Given the description of an element on the screen output the (x, y) to click on. 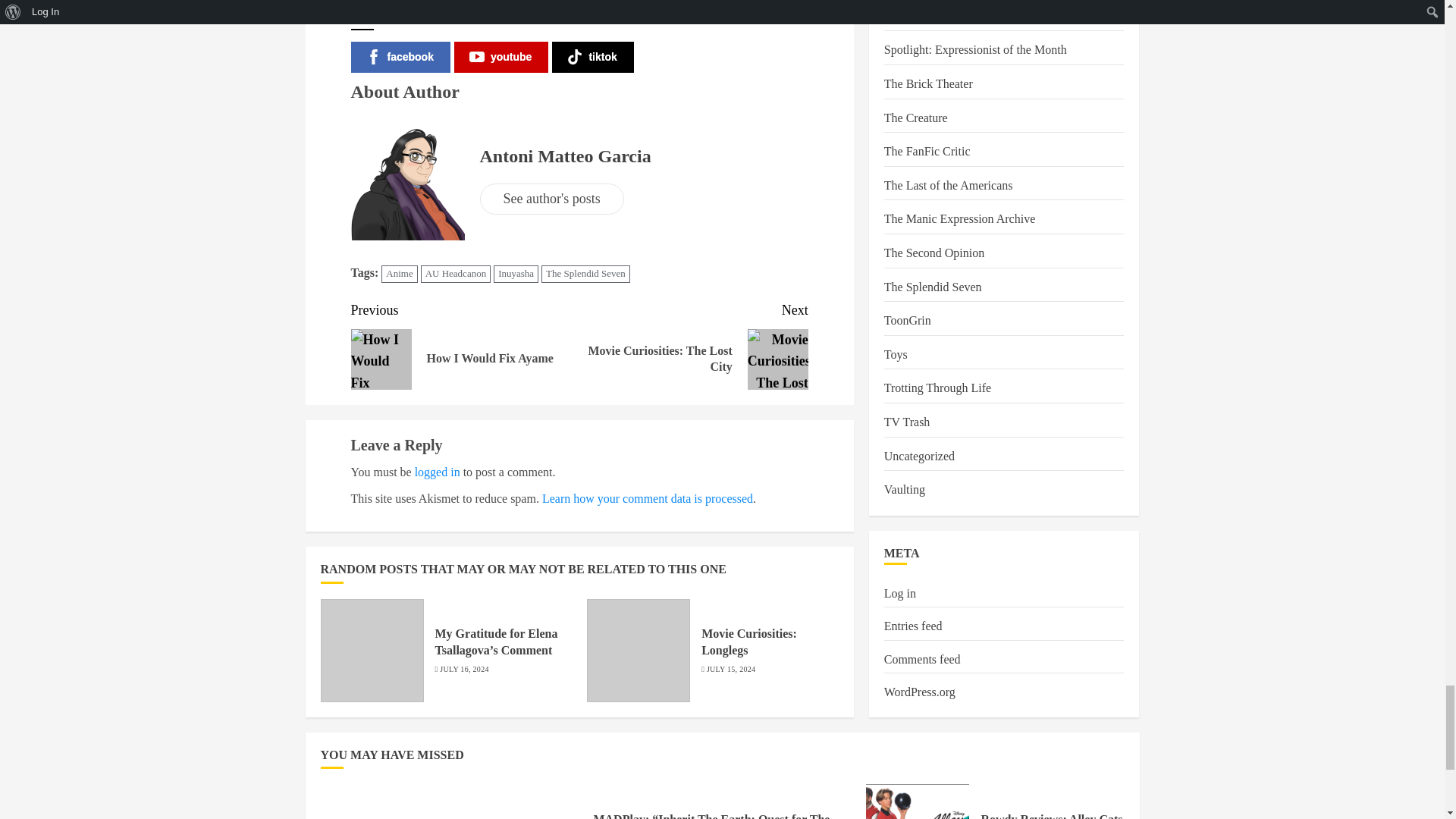
How I Would Fix Ayame (380, 359)
Movie Curiosities: The Lost City (778, 359)
